Given the description of an element on the screen output the (x, y) to click on. 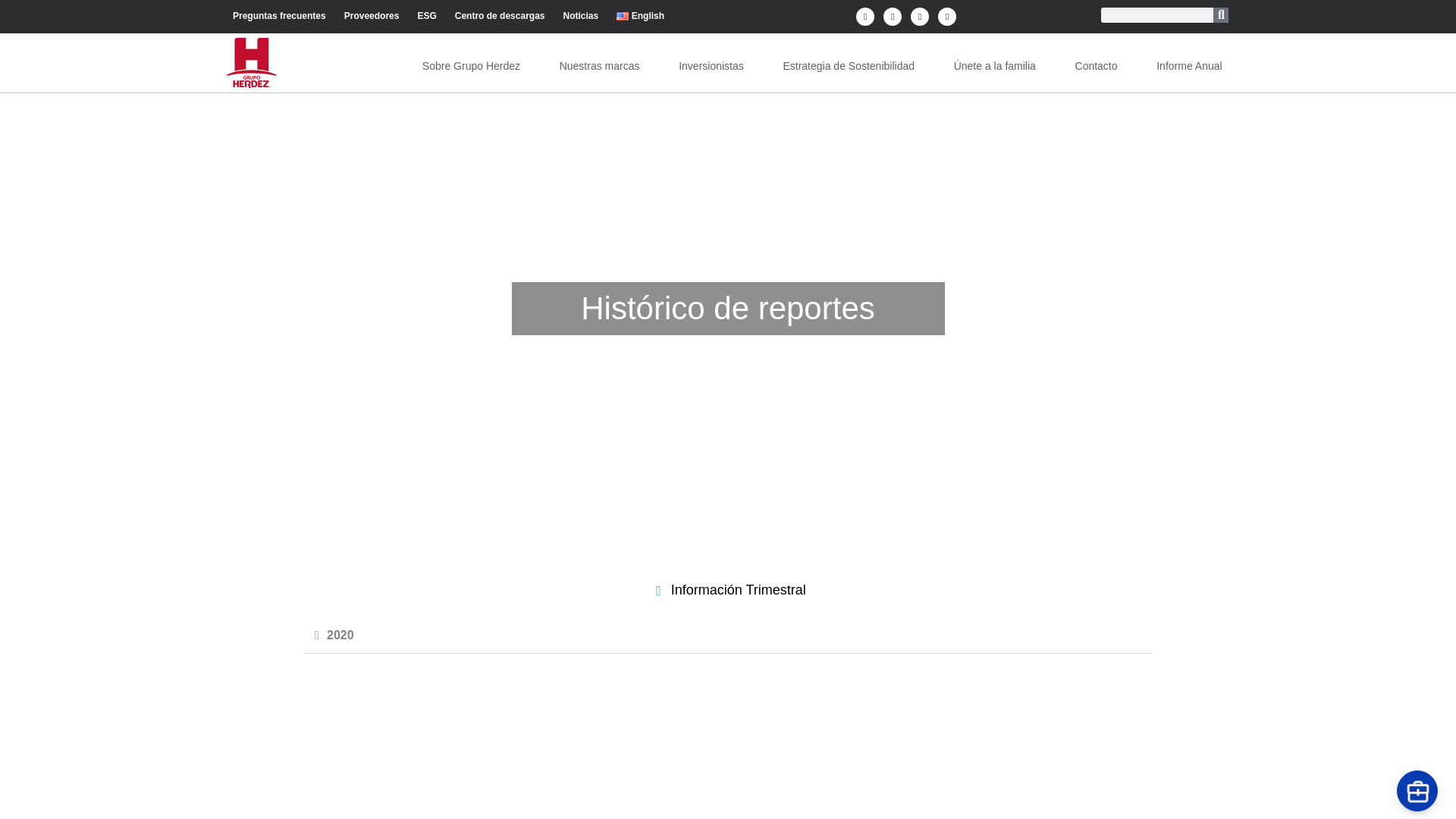
Twitter (892, 16)
Nuestras marcas (599, 65)
ESG (426, 15)
Noticias (580, 15)
Sobre Grupo Herdez (471, 65)
Facebook-f (865, 16)
English (639, 15)
Preguntas frecuentes (279, 15)
Search (1220, 14)
Proveedores (371, 15)
